Given the description of an element on the screen output the (x, y) to click on. 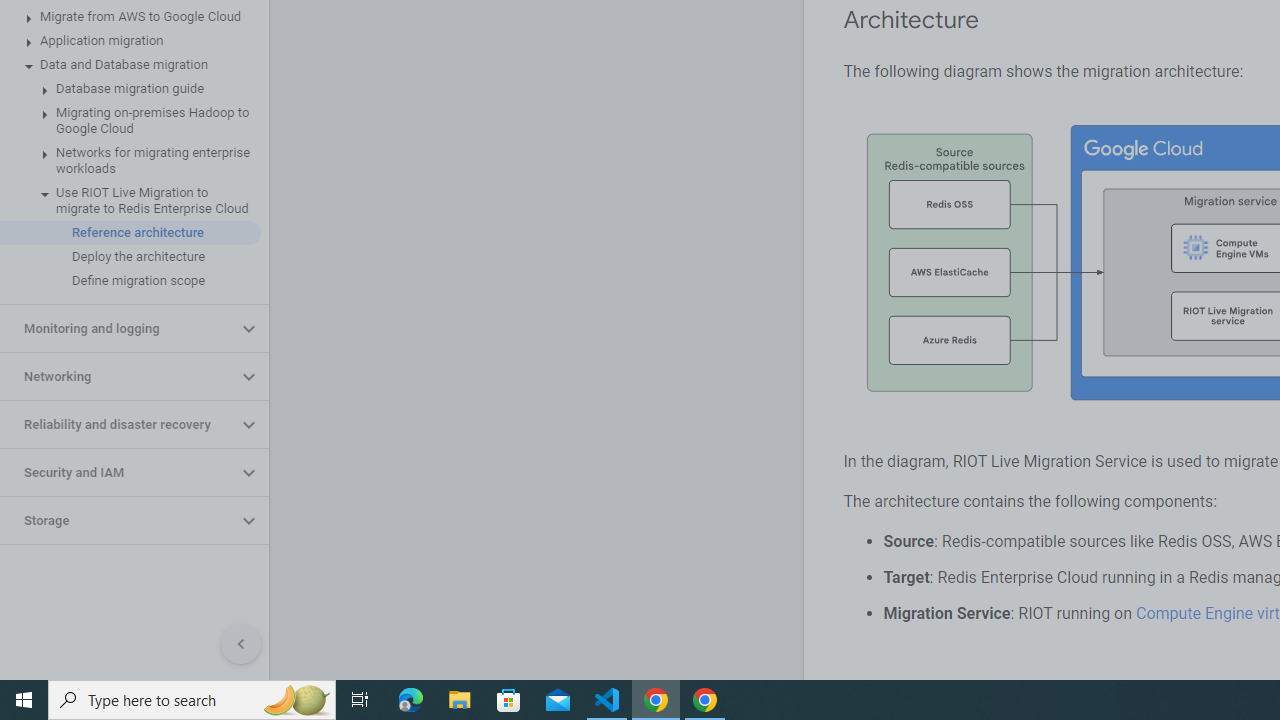
Data and Database migration (130, 65)
Migrate from AWS to Google Cloud (130, 16)
Security and IAM (118, 472)
